Given the description of an element on the screen output the (x, y) to click on. 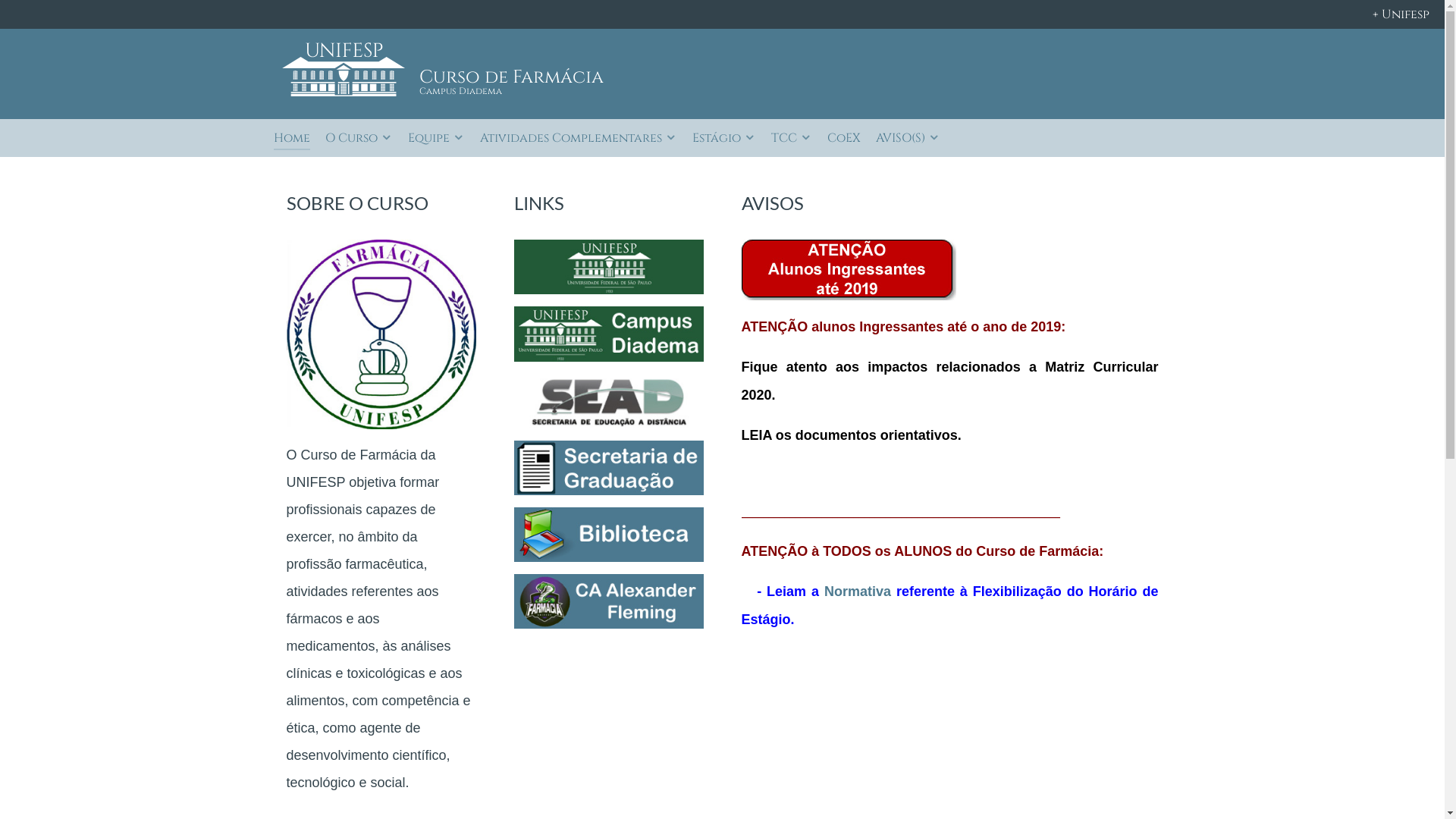
TCC Element type: text (790, 138)
Normativa Element type: text (860, 591)
Atividades Complementares Element type: text (577, 138)
O Curso Element type: text (358, 138)
AVISO(S) Element type: text (907, 138)
Home Element type: text (291, 138)
+ Unifesp Element type: text (722, 14)
CoEX Element type: text (842, 138)
Equipe Element type: text (435, 138)
on Element type: text (4, 4)
